Given the description of an element on the screen output the (x, y) to click on. 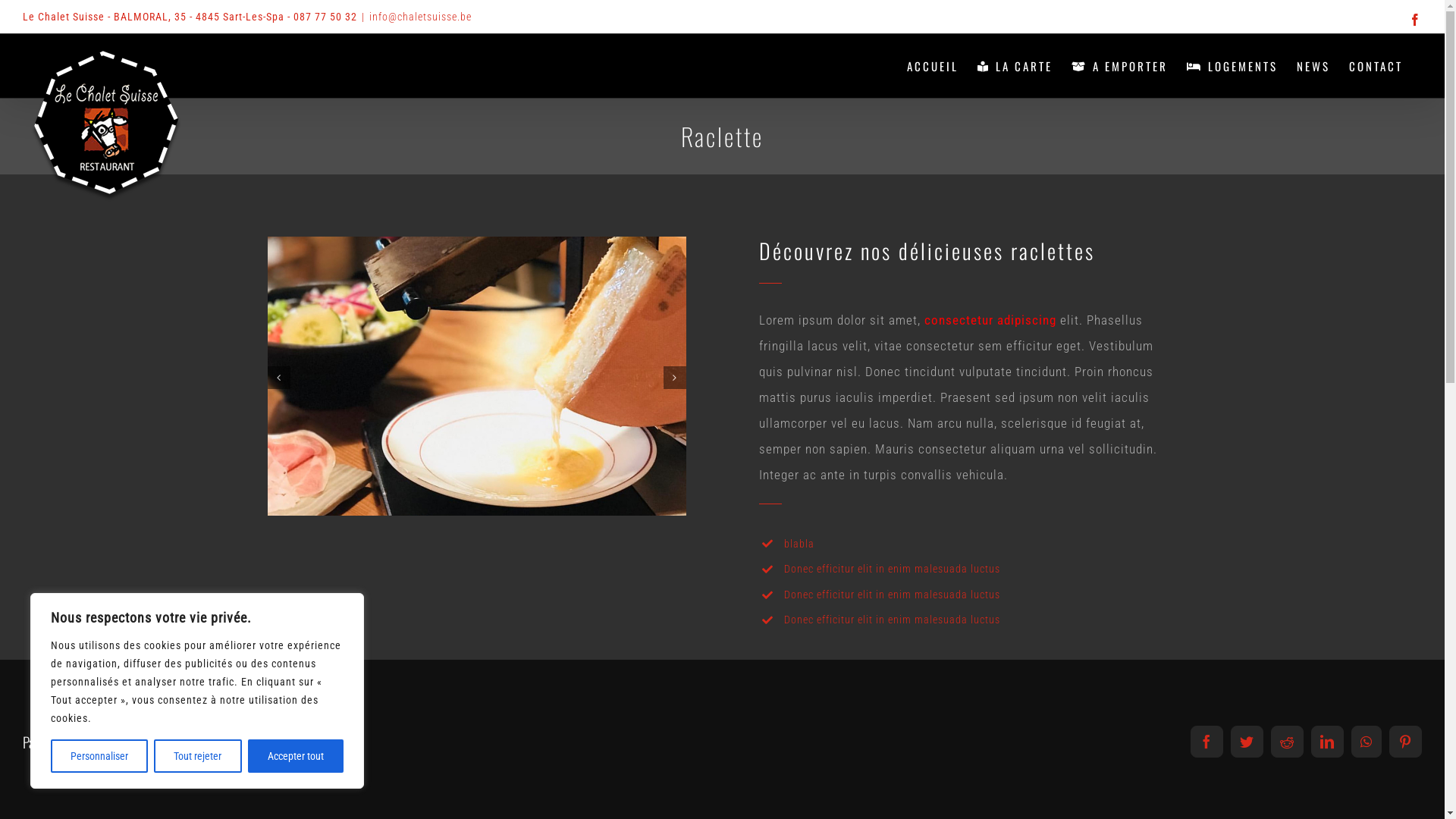
Accepter tout Element type: text (295, 755)
A EMPORTER Element type: text (1119, 65)
LOGEMENTS Element type: text (1231, 65)
LA CARTE Element type: text (1014, 65)
ACCUEIL Element type: text (932, 65)
WhatsApp Element type: text (1366, 741)
Facebook Element type: text (1206, 741)
info@chaletsuisse.be Element type: text (420, 16)
Tout rejeter Element type: text (197, 755)
Personnaliser Element type: text (98, 755)
consectetur adipiscing Element type: text (989, 319)
Reddit Element type: text (1286, 741)
LinkedIn Element type: text (1327, 741)
Facebook Element type: text (1414, 19)
Pinterest Element type: text (1405, 741)
Twitter Element type: text (1246, 741)
CONTACT Element type: text (1375, 65)
NEWS Element type: text (1313, 65)
